Given the description of an element on the screen output the (x, y) to click on. 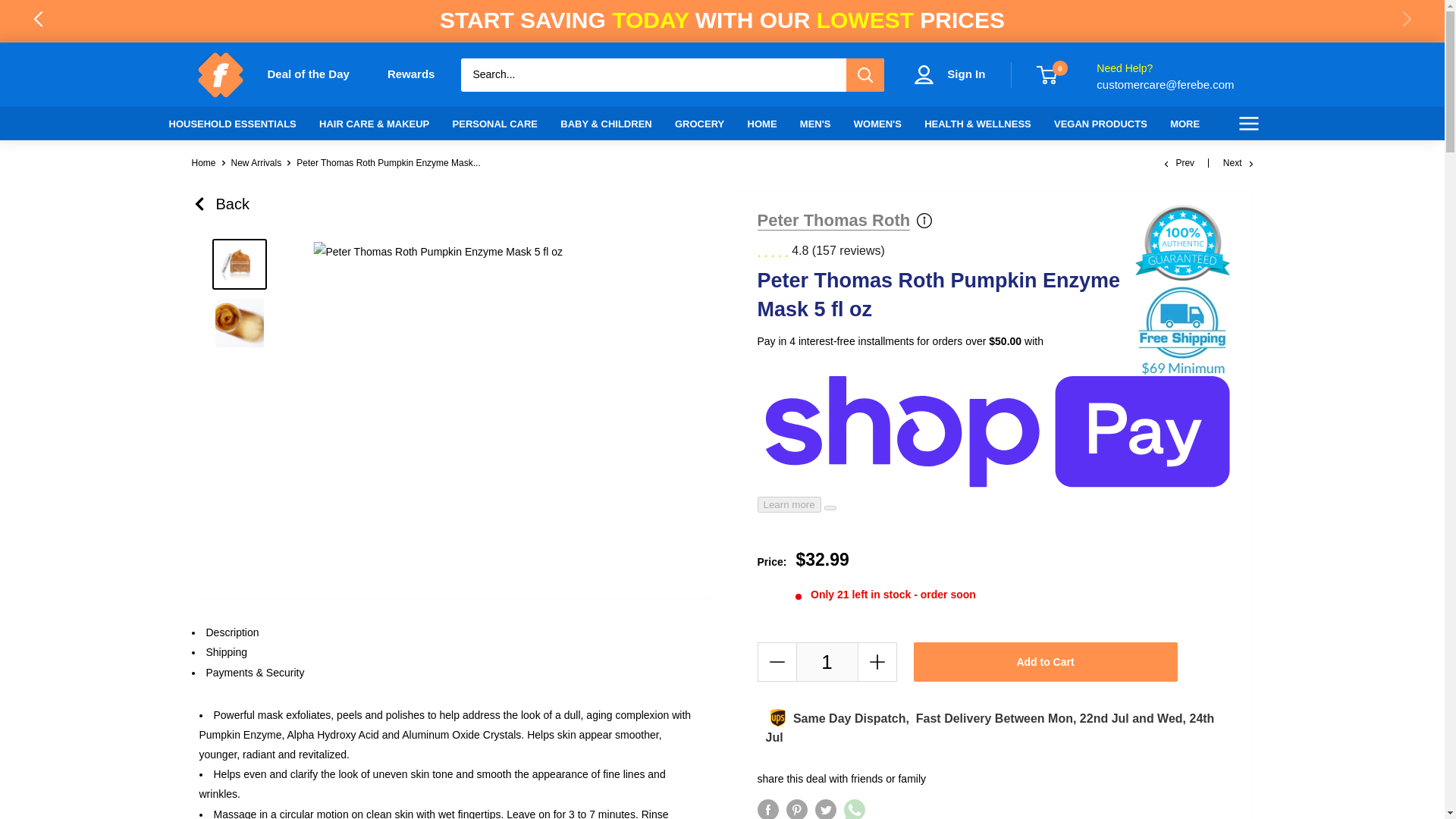
1 (826, 661)
START SAVING TODAY WITH OUR LOWEST PRICES (721, 20)
